Given the description of an element on the screen output the (x, y) to click on. 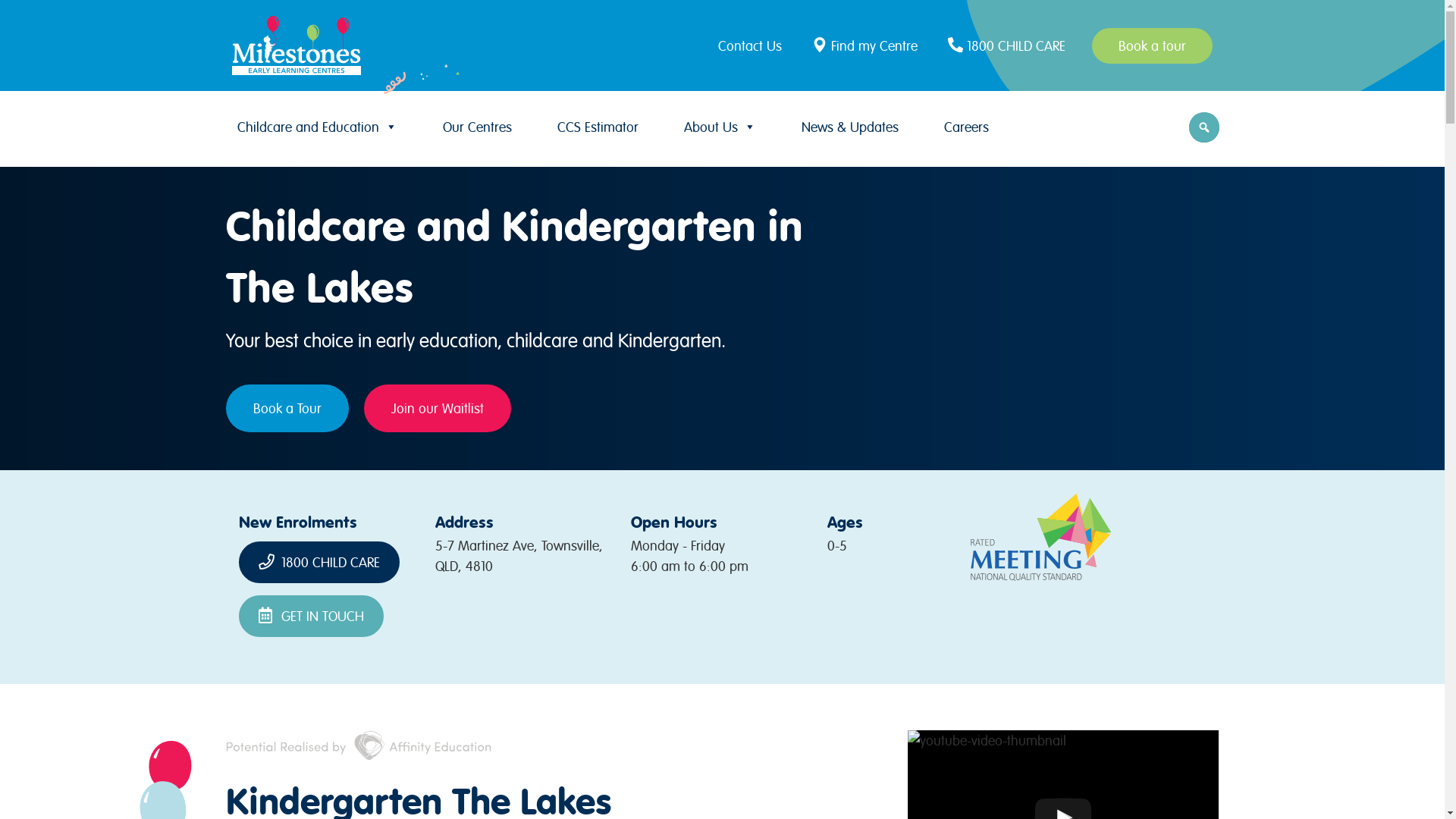
News & Updates Element type: text (849, 127)
Find my Centre Element type: text (866, 44)
Search Element type: text (15, 17)
Book a tour Element type: text (1152, 44)
About Us Element type: text (719, 127)
Contact Us Element type: text (753, 44)
CCS Estimator Element type: text (597, 127)
1800 CHILD CARE Element type: text (1008, 44)
Join our Waitlist Element type: text (437, 408)
Careers Element type: text (965, 127)
GET IN TOUCH Element type: text (310, 616)
potential-realised-by-affinity-education Element type: hover (358, 745)
Childcare and Education Element type: text (316, 127)
Our Centres Element type: text (477, 127)
Book a Tour Element type: text (286, 408)
1800 CHILD CARE Element type: text (318, 562)
